Given the description of an element on the screen output the (x, y) to click on. 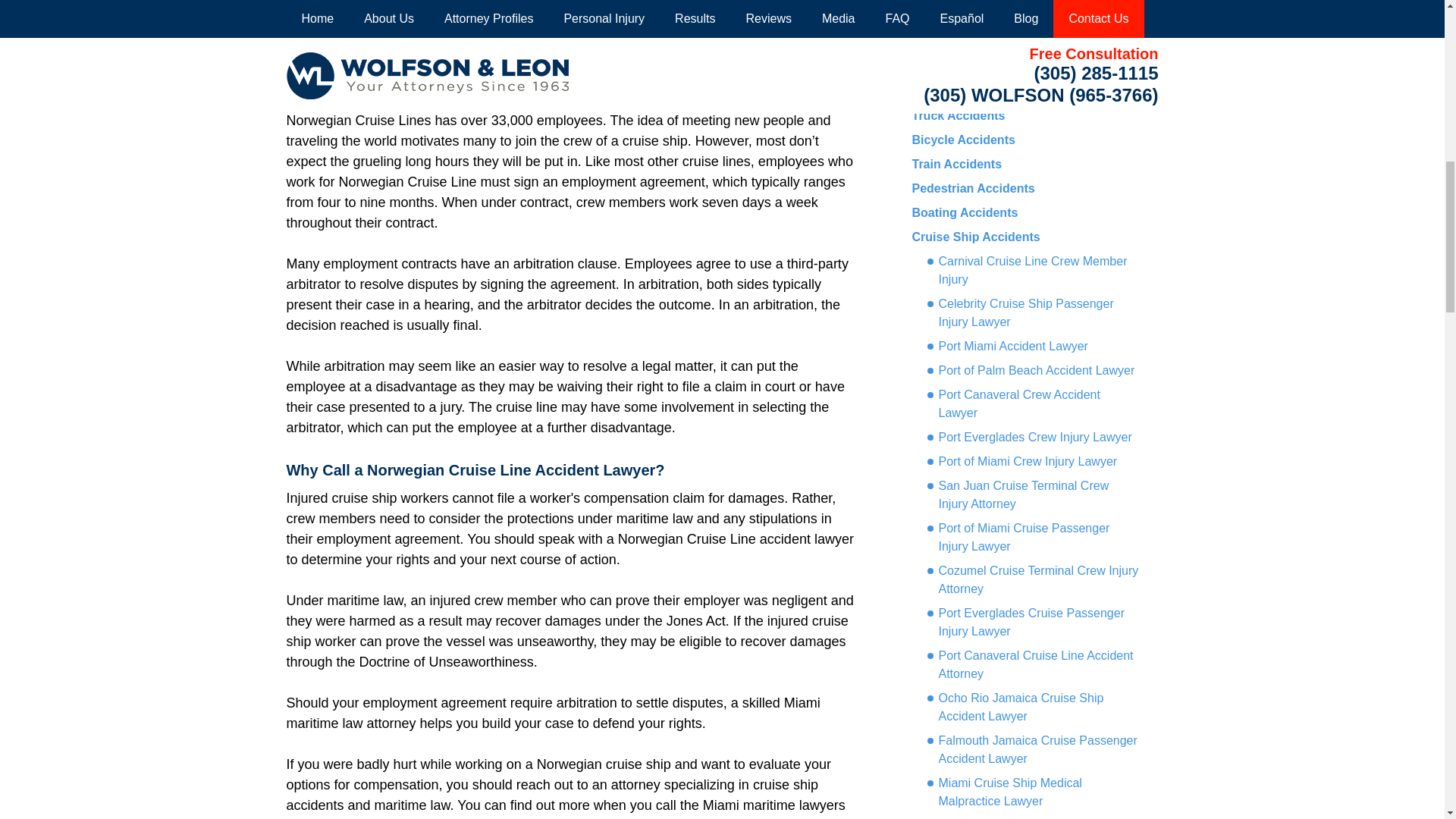
San Juan Cruise Terminal Crew Injury Attorney (1032, 494)
Crime Victim Compensation (992, 66)
Pedestrian Accidents (972, 187)
Carnival Cruise Line Crew Member Injury (1032, 270)
Celebrity Cruise Ship Passenger Injury Lawyer (1032, 312)
Bicycle Accidents (962, 139)
Car Accidents (951, 42)
Motorcycle Accidents (973, 91)
Port Everglades Crew Injury Lawyer (1028, 437)
Cruise Ship Accidents (975, 236)
Truck Accidents (957, 115)
Port of Miami Crew Injury Lawyer (1021, 461)
Port of Palm Beach Accident Lawyer (1030, 370)
Port Miami Accident Lawyer (1006, 346)
Train Accidents (956, 164)
